Given the description of an element on the screen output the (x, y) to click on. 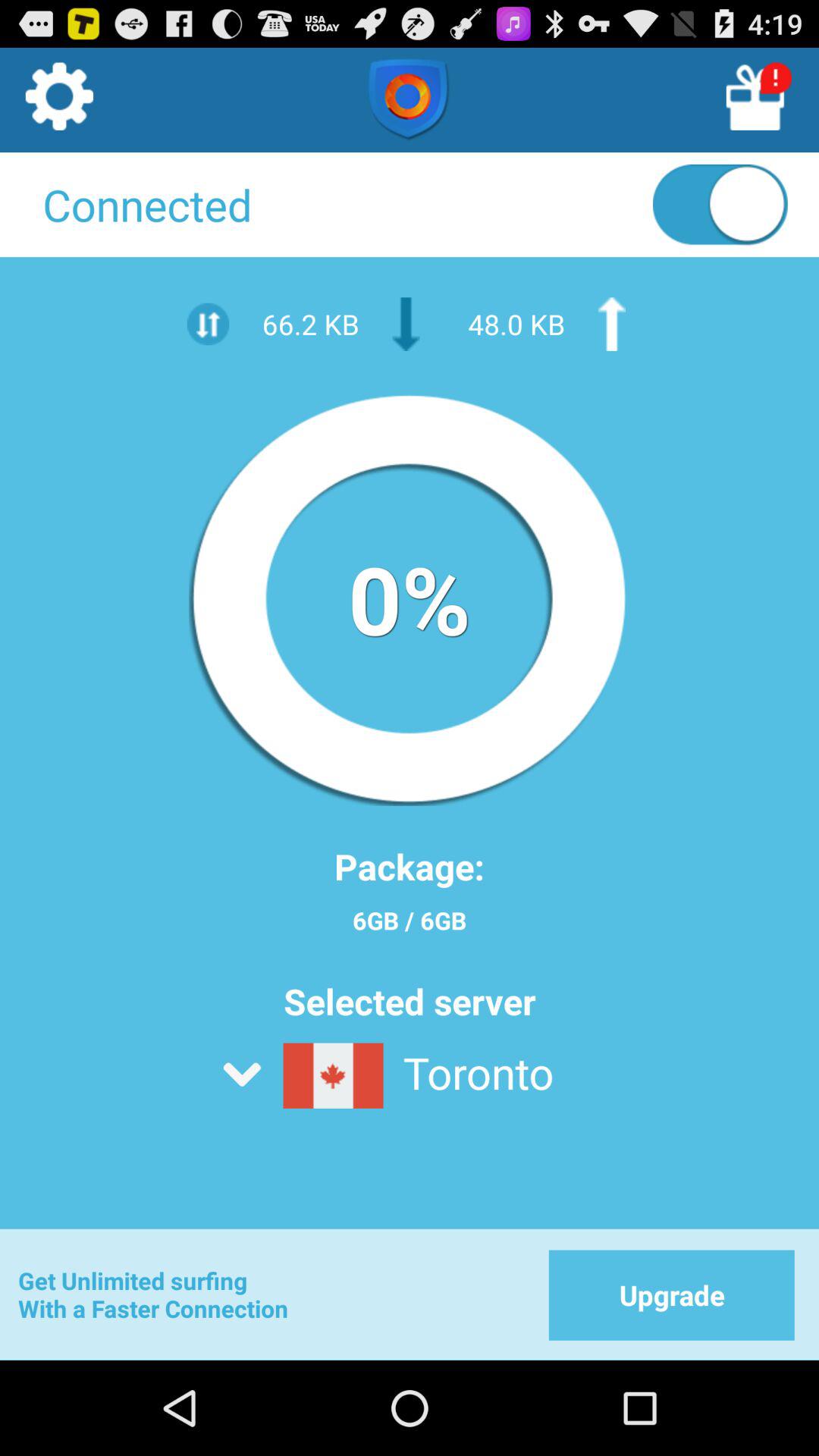
disconnect vpn (720, 208)
